Given the description of an element on the screen output the (x, y) to click on. 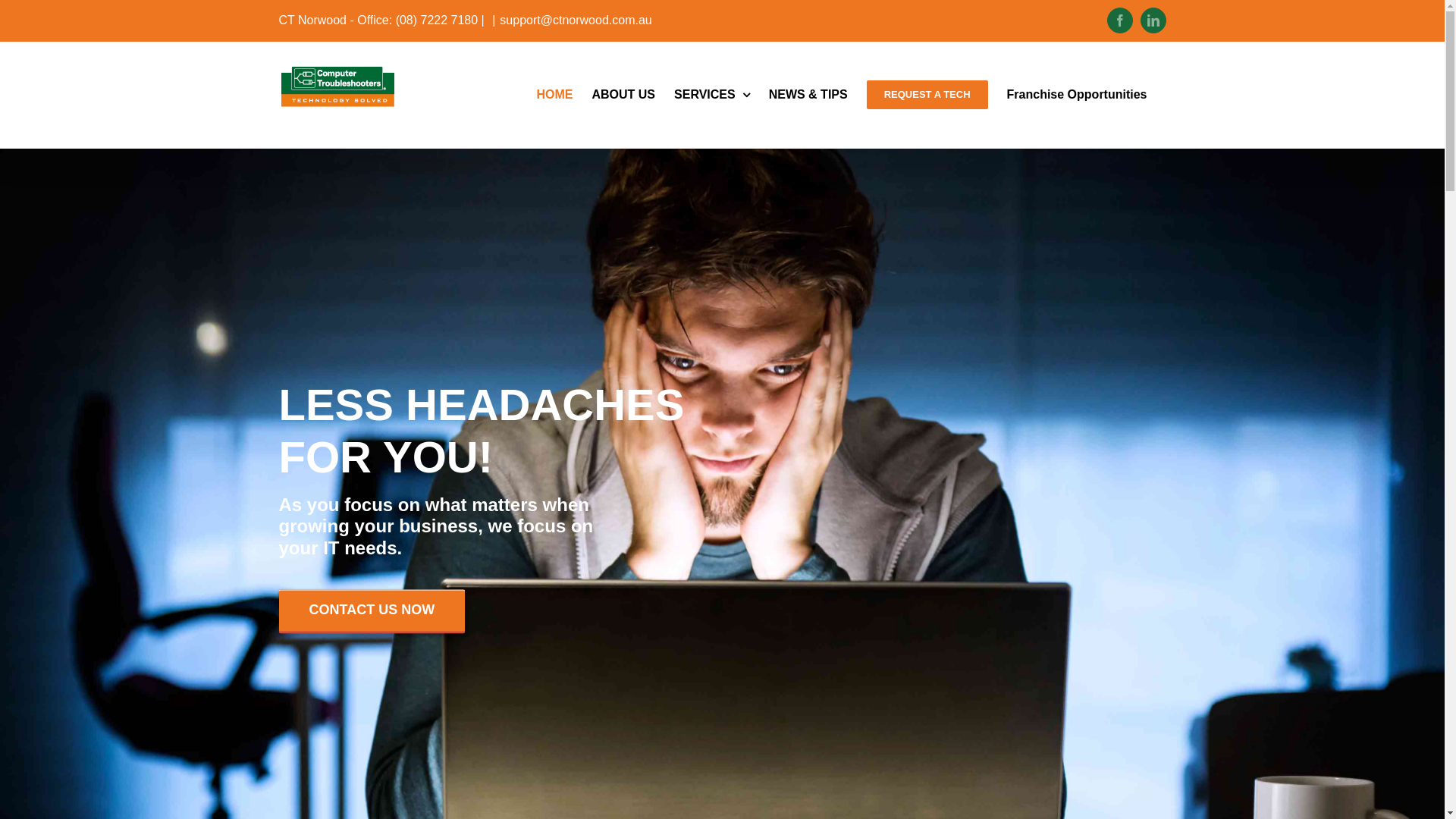
support@ctnorwood.com.au Element type: text (575, 19)
NEWS & TIPS Element type: text (807, 94)
Franchise Opportunities Element type: text (1077, 94)
HOME Element type: text (554, 94)
Facebook Element type: text (1119, 20)
LinkedIn Element type: text (1153, 20)
REQUEST A TECH Element type: text (927, 94)
ABOUT US Element type: text (623, 94)
SERVICES Element type: text (711, 94)
